Given the description of an element on the screen output the (x, y) to click on. 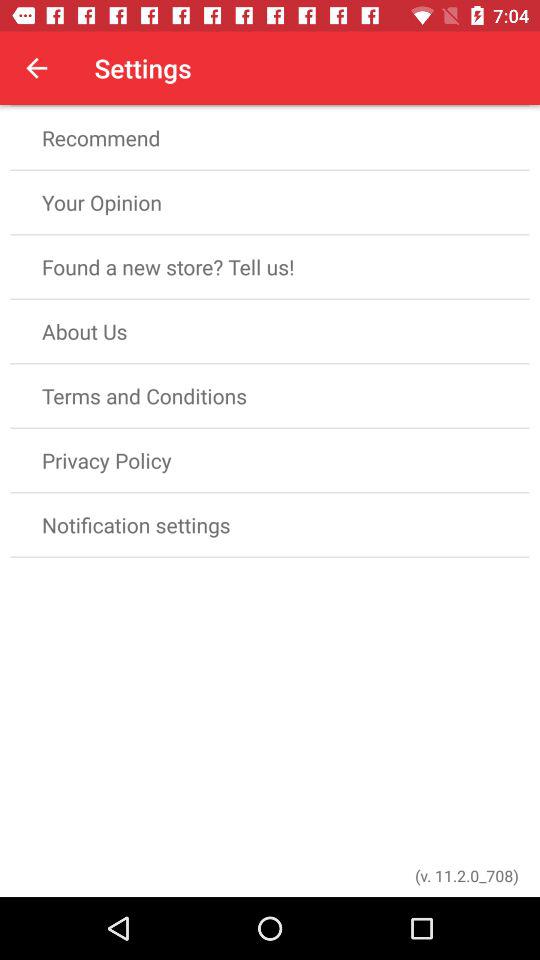
launch item above the your opinion (269, 137)
